Given the description of an element on the screen output the (x, y) to click on. 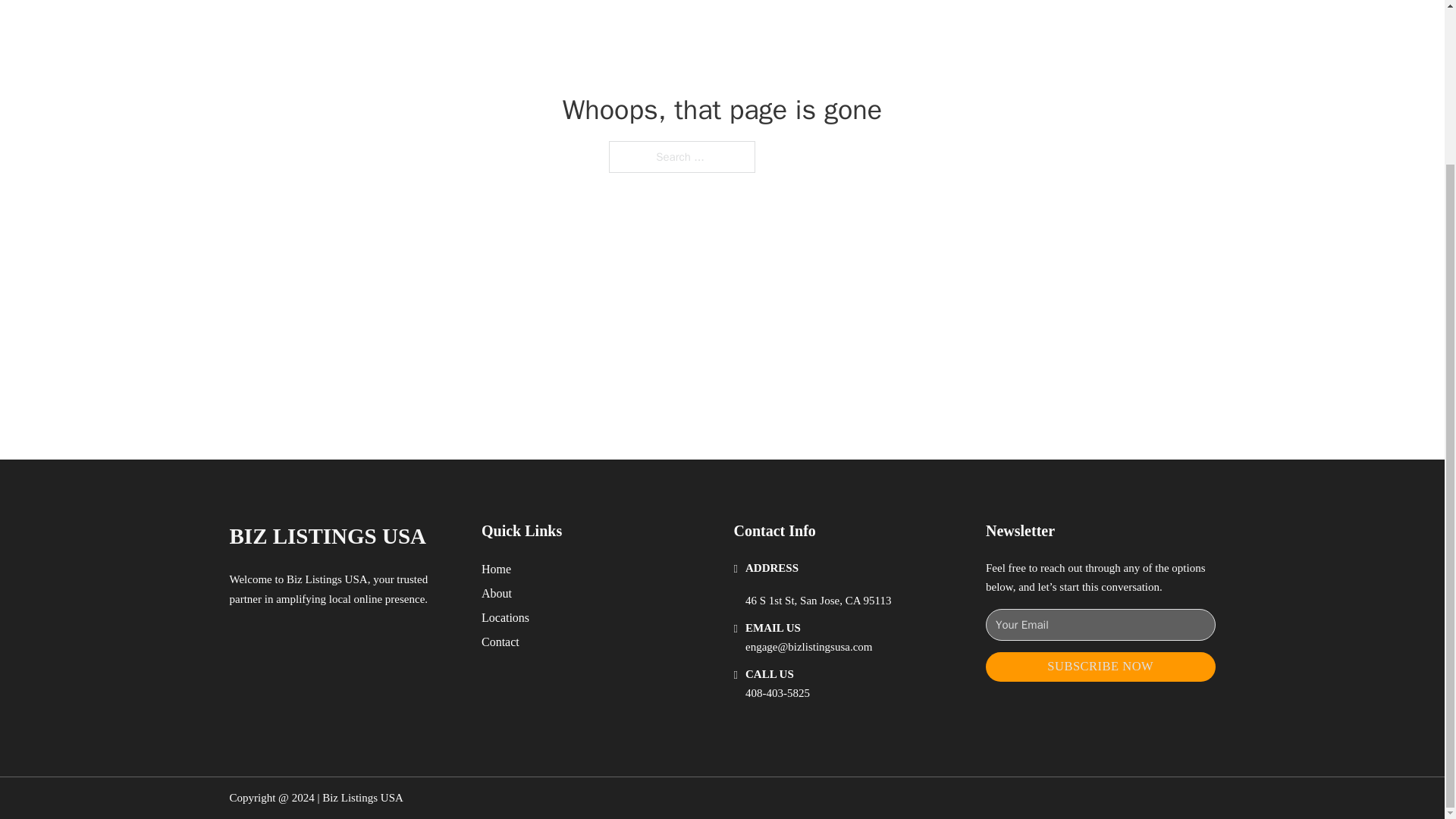
Home (496, 568)
Locations (505, 617)
SUBSCRIBE NOW (1100, 666)
Contact (500, 641)
About (496, 593)
BIZ LISTINGS USA (327, 536)
408-403-5825 (777, 693)
